Given the description of an element on the screen output the (x, y) to click on. 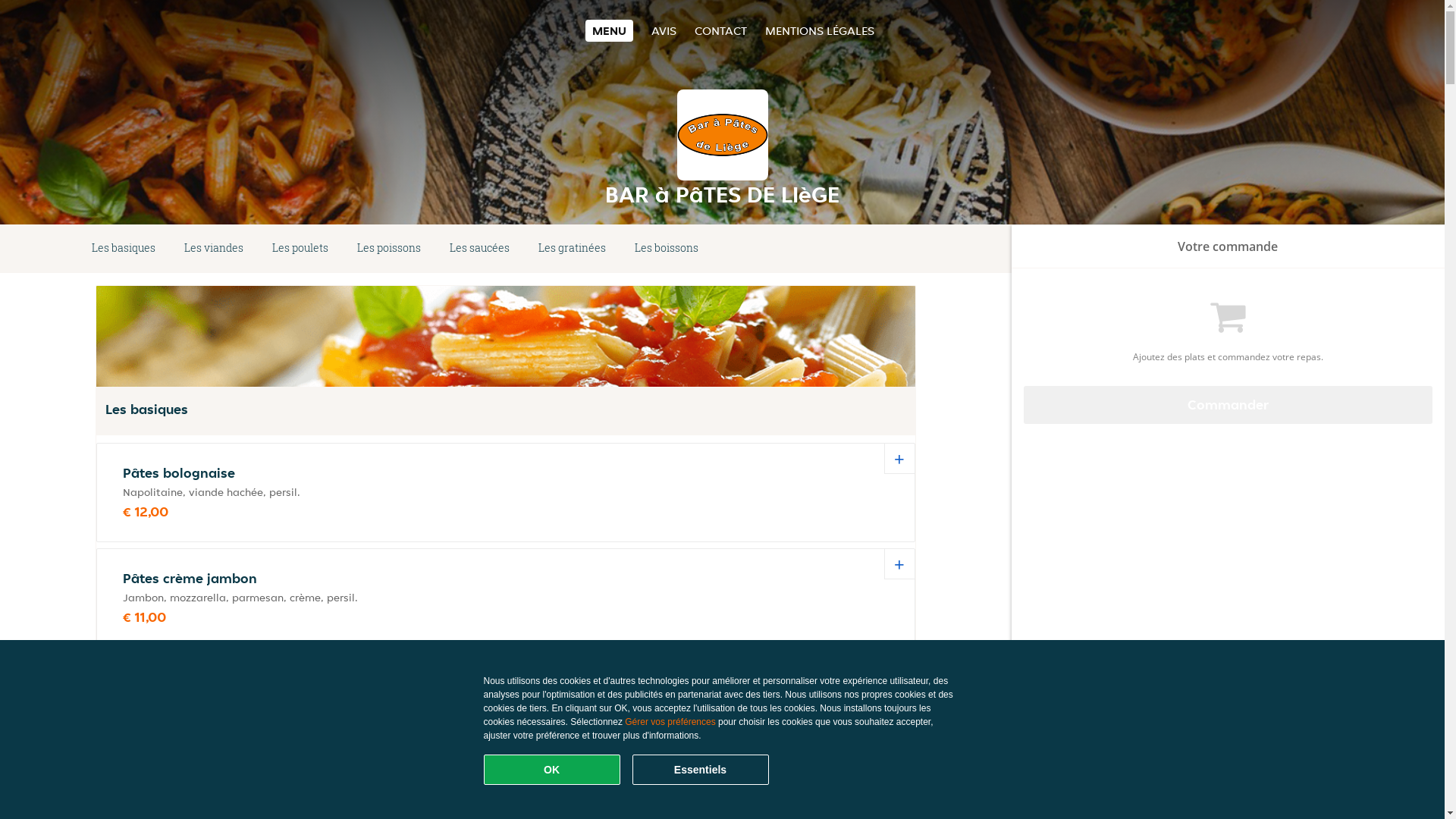
OK Element type: text (551, 769)
Les poulets Element type: text (299, 248)
MENU Element type: text (609, 30)
Les poissons Element type: text (388, 248)
Les boissons Element type: text (666, 248)
Commander Element type: text (1228, 404)
CONTACT Element type: text (720, 30)
Essentiels Element type: text (700, 769)
AVIS Element type: text (663, 30)
Les viandes Element type: text (213, 248)
Les basiques Element type: text (123, 248)
